Given the description of an element on the screen output the (x, y) to click on. 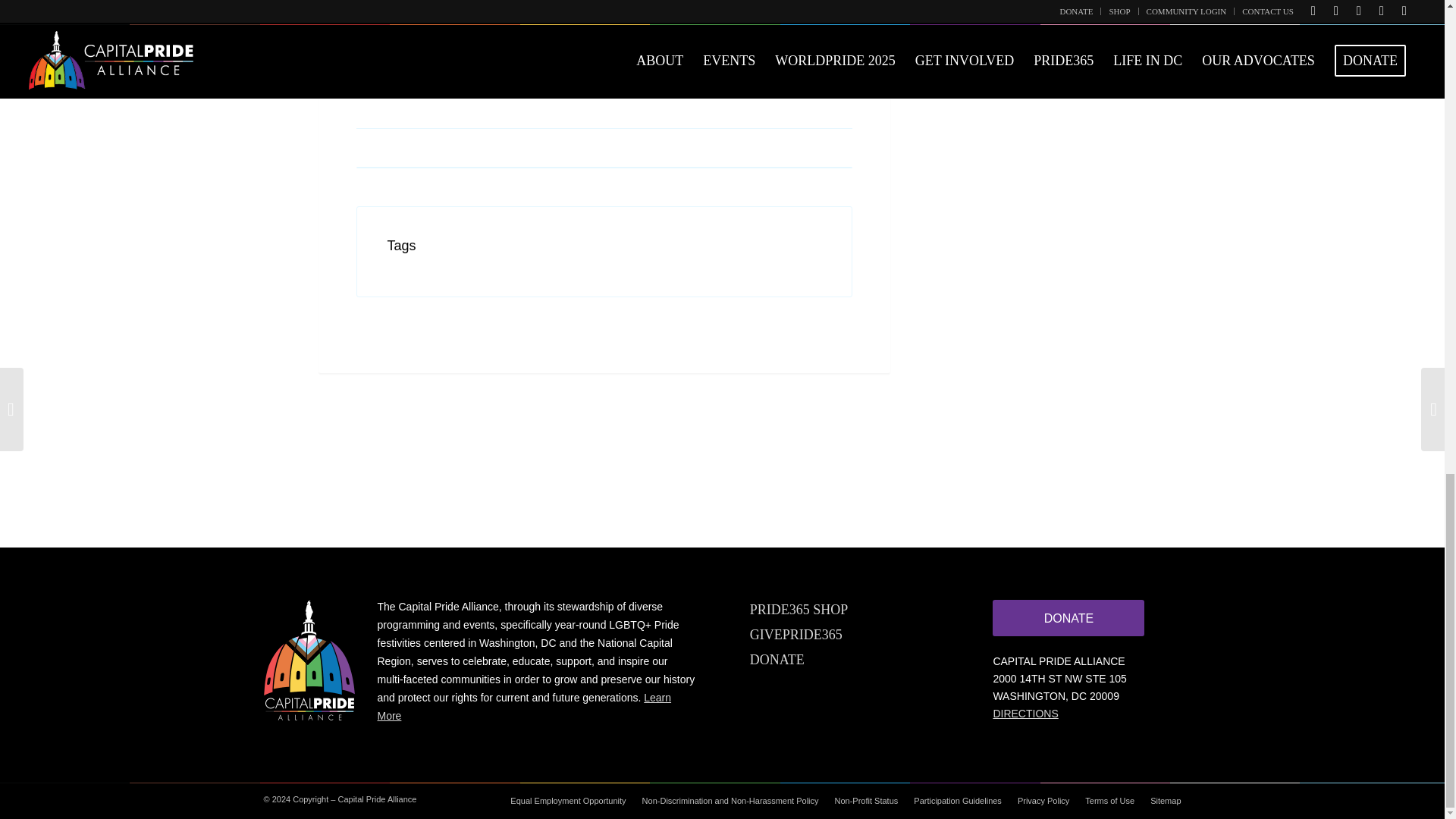
Share on Facebook (368, 75)
X Social Network (397, 75)
Email (427, 75)
